Given the description of an element on the screen output the (x, y) to click on. 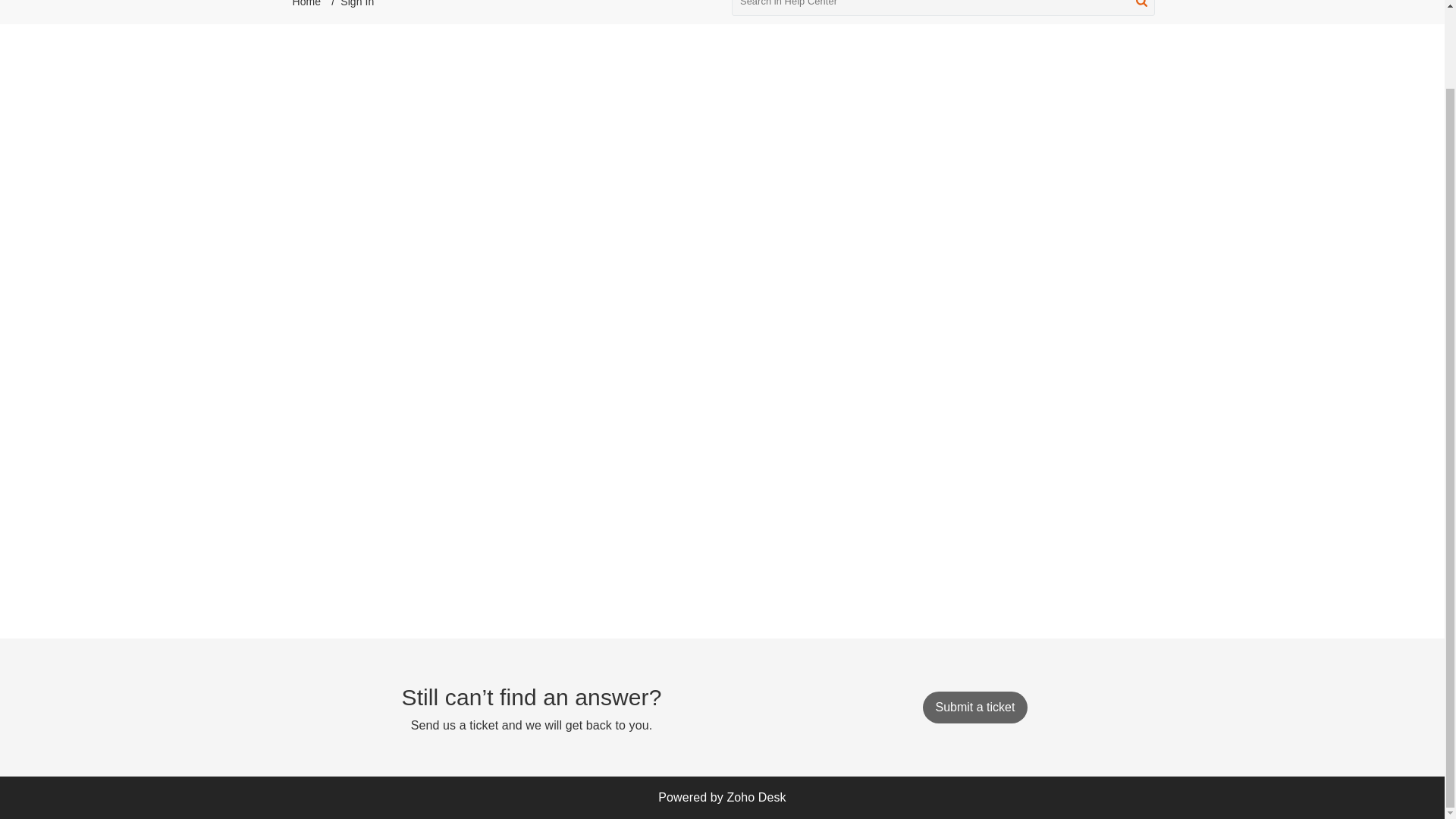
Submit a ticket (974, 707)
Home (306, 3)
Zoho Desk (756, 797)
Submit a ticket (974, 707)
